Given the description of an element on the screen output the (x, y) to click on. 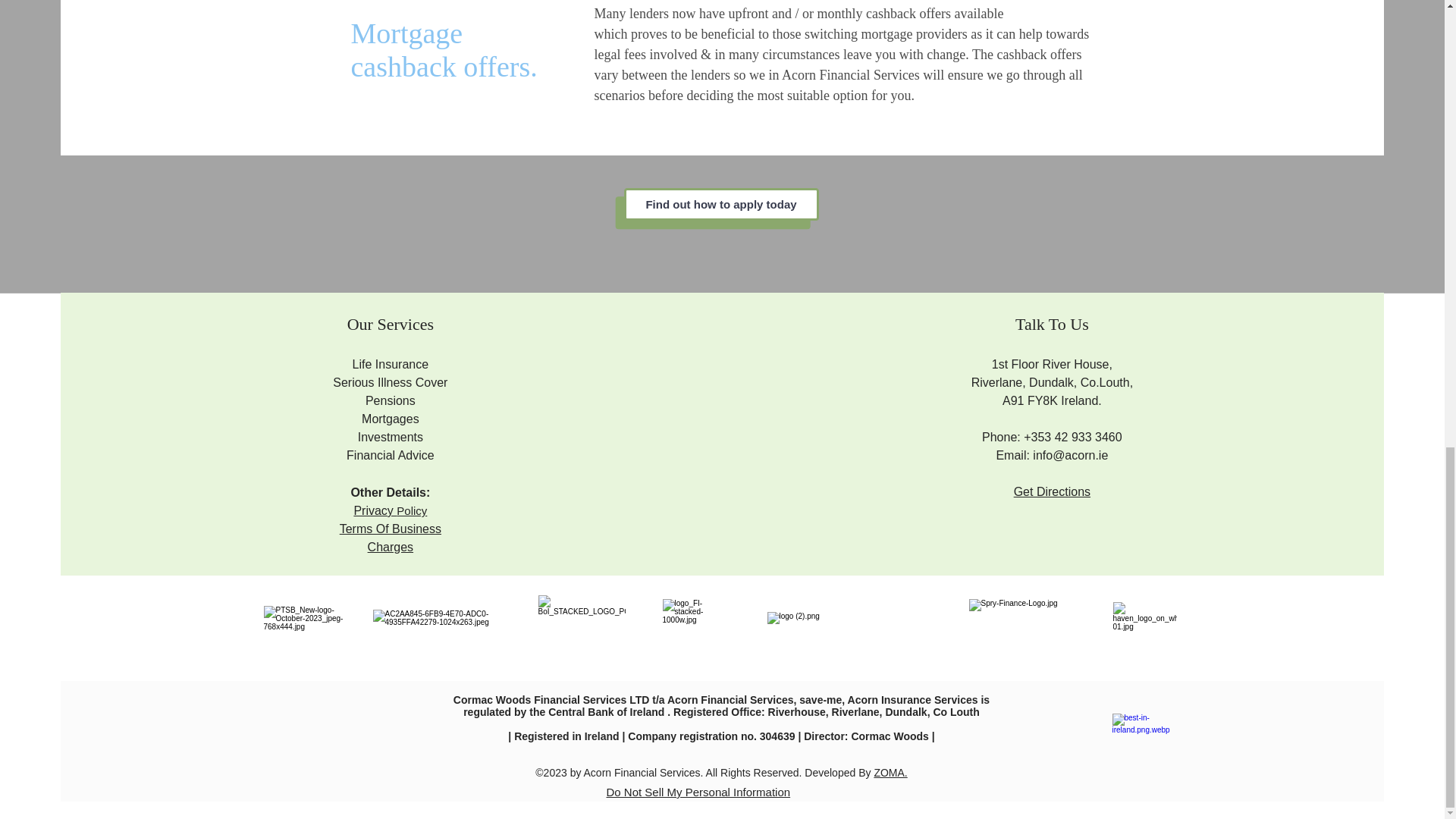
ZOMA. (890, 772)
Mortgages (390, 418)
Get Directions (1051, 491)
Do Not Sell My Personal Information (698, 791)
Investments (390, 436)
Find out how to apply today (720, 204)
Serious Illness Cover (389, 382)
Terms Of Business (390, 528)
Pensions (389, 400)
Charges (390, 546)
Privacy Policy (389, 510)
Financial Advice (389, 454)
Life Insurance (390, 364)
